Given the description of an element on the screen output the (x, y) to click on. 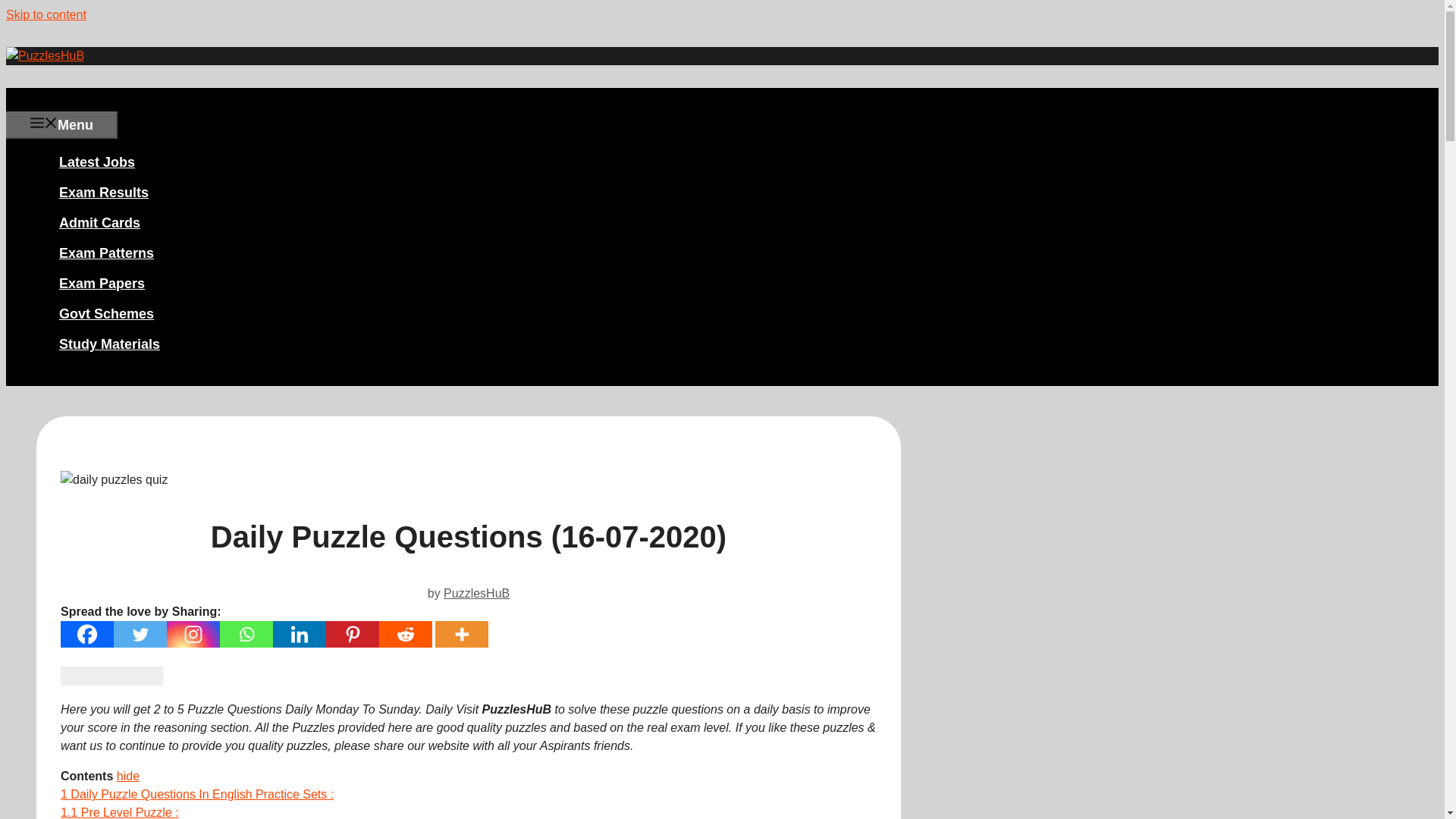
Facebook (87, 633)
More (462, 633)
Admit Cards (99, 221)
hide (127, 775)
1 Daily Puzzle Questions In English Practice Sets : (197, 793)
Pinterest (352, 633)
Govt Schemes (106, 312)
PuzzlesHuB (476, 593)
Reddit (405, 633)
Linkedin (299, 633)
